Given the description of an element on the screen output the (x, y) to click on. 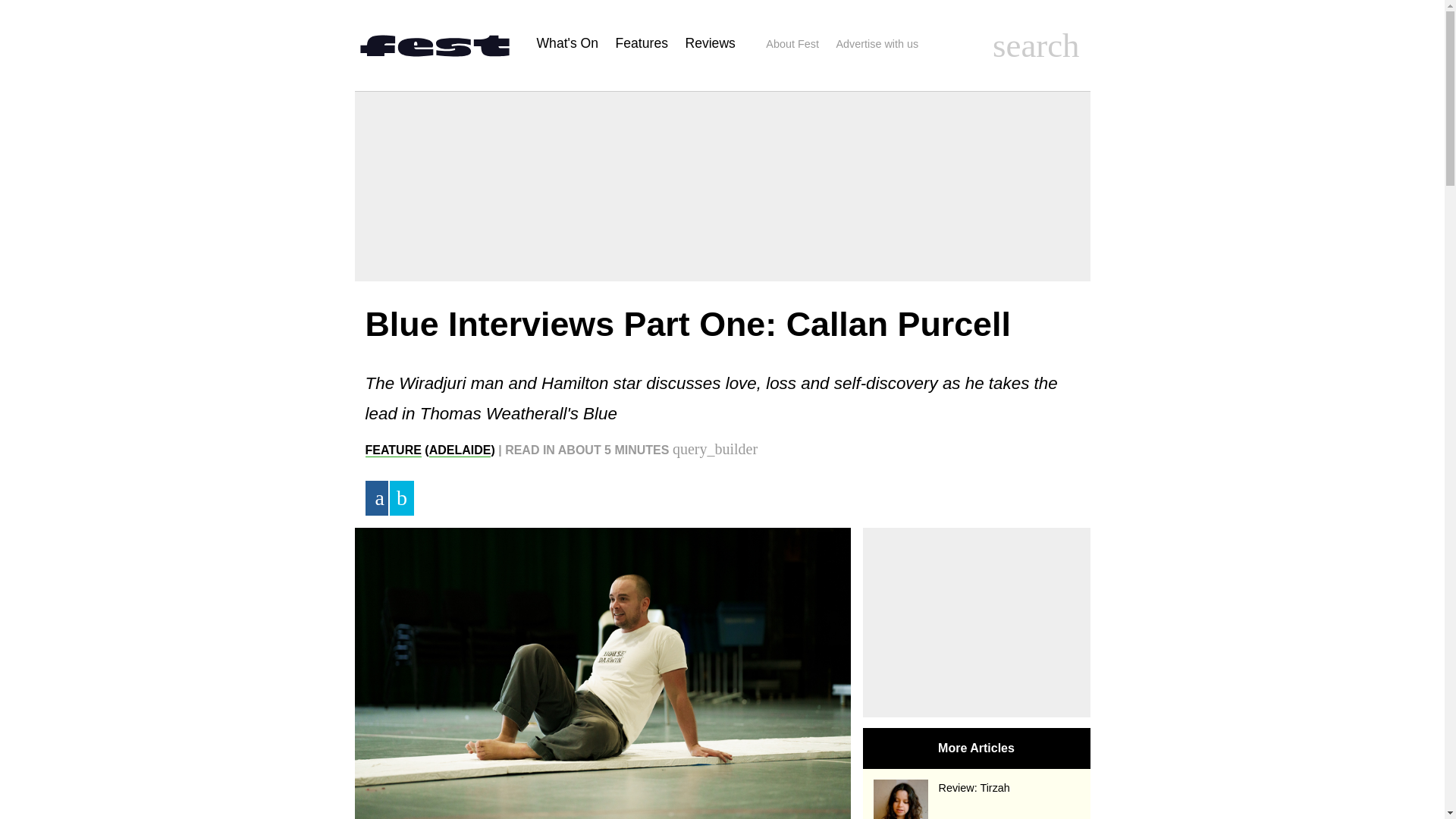
search (1035, 45)
Reviews (709, 43)
Features (641, 43)
Advertise with us (876, 43)
Review: Tirzah (976, 787)
About Fest (791, 43)
FEATURE (393, 450)
What's On (567, 43)
ADELAIDE (460, 450)
